Given the description of an element on the screen output the (x, y) to click on. 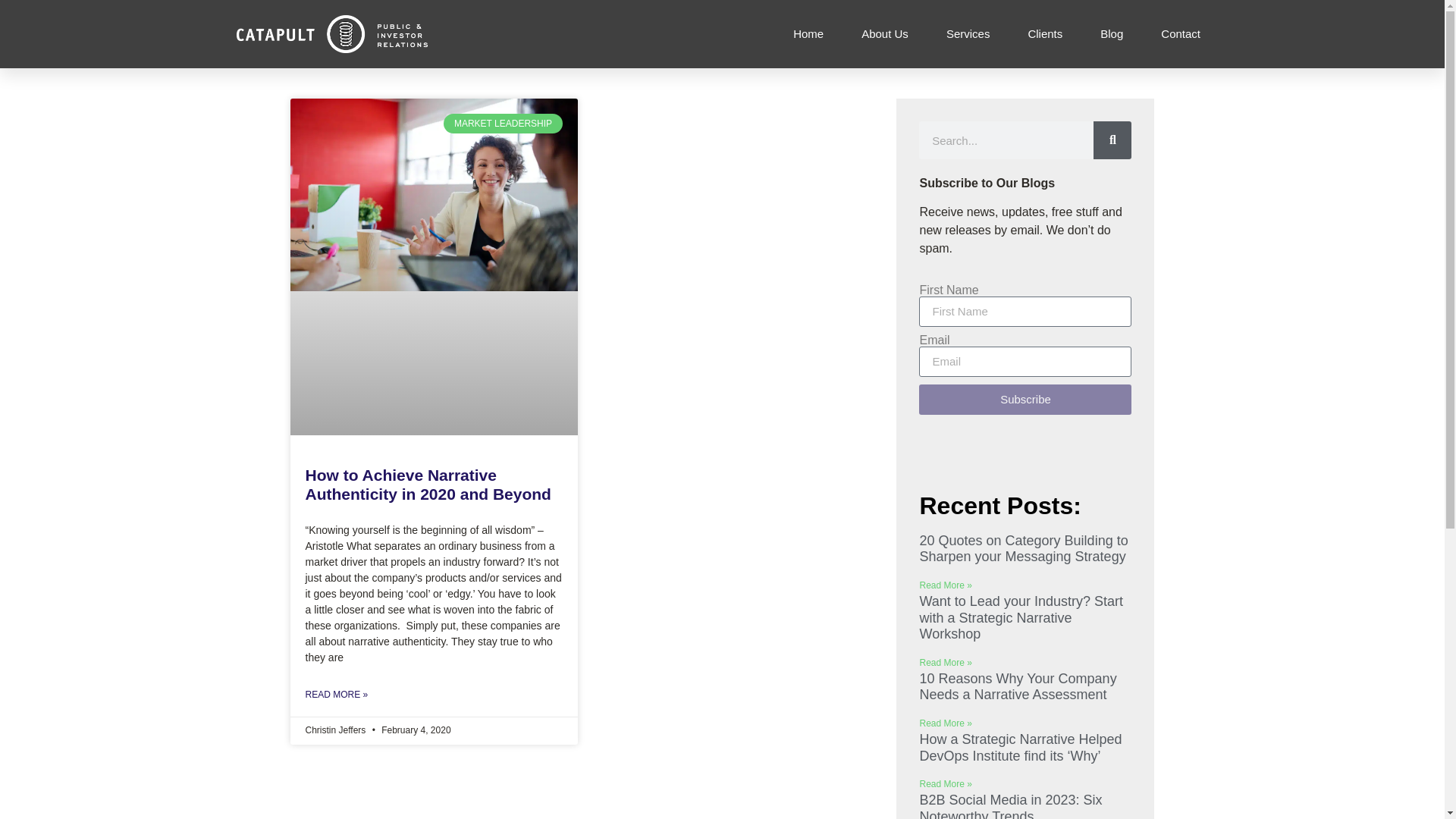
10 Reasons Why Your Company Needs a Narrative Assessment (1017, 686)
How to Achieve Narrative Authenticity in 2020 and Beyond (427, 484)
B2B Social Media in 2023: Six Noteworthy Trends (1010, 805)
Subscribe (1024, 399)
